Given the description of an element on the screen output the (x, y) to click on. 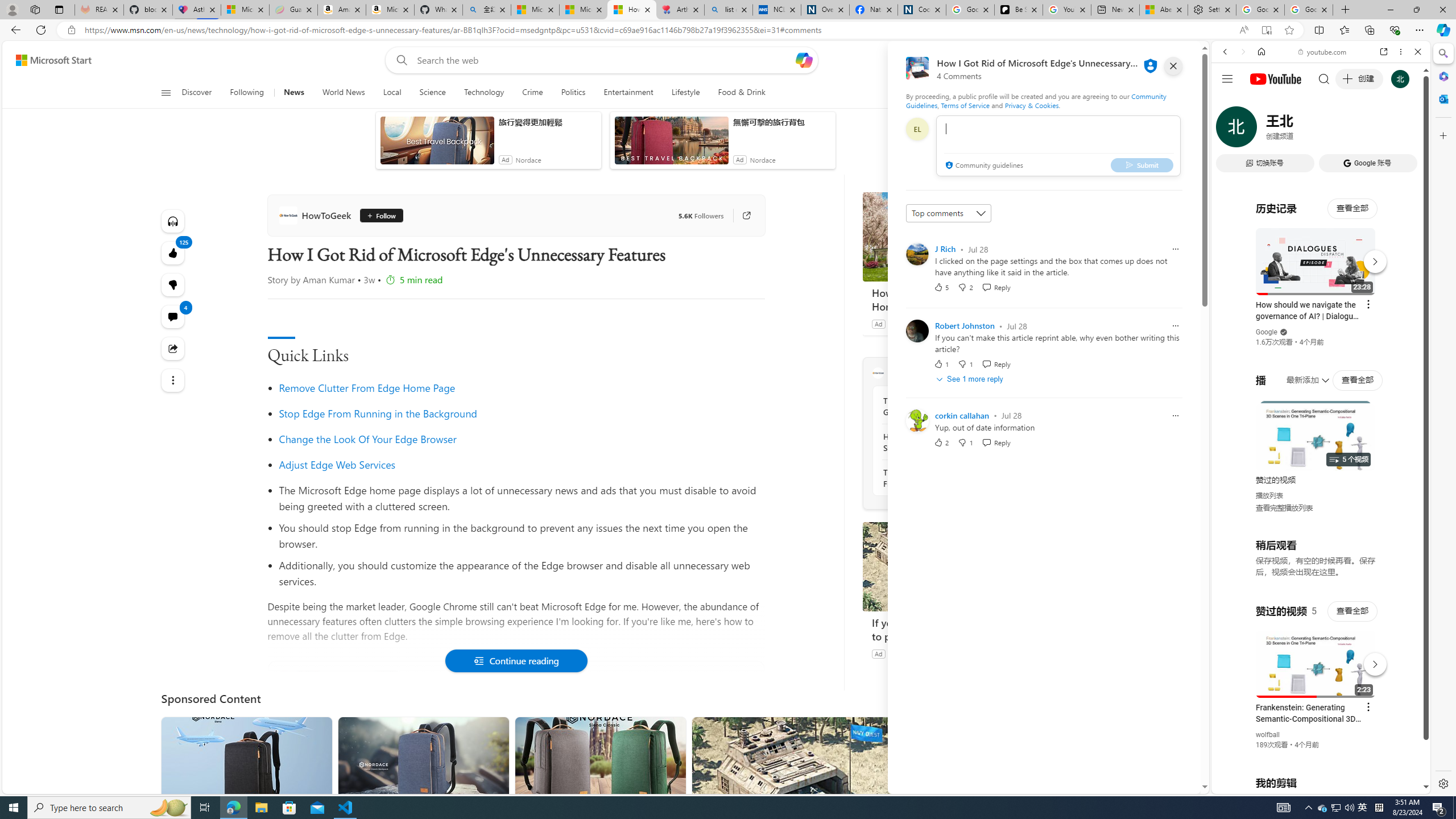
Crime (531, 92)
Discover (201, 92)
Search Filter, WEB (1230, 129)
Following (248, 92)
Browser essentials (1394, 29)
How I Got Rid of Microsoft Edge's Unnecessary Features (631, 9)
Web search (398, 60)
YouTube (1315, 655)
LendingTree (907, 323)
you (1315, 755)
Settings (1211, 9)
